Given the description of an element on the screen output the (x, y) to click on. 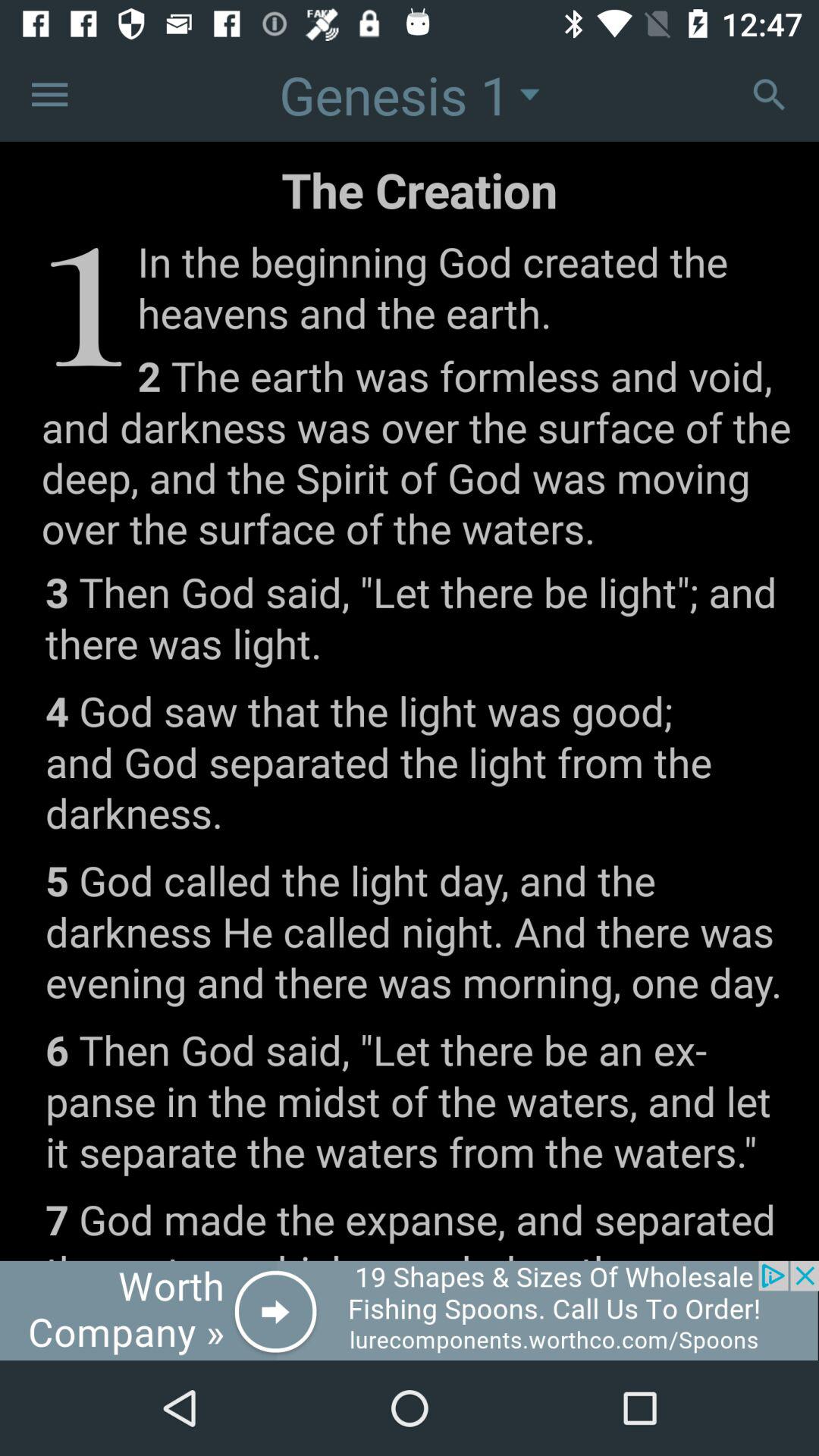
zoom in (769, 94)
